Given the description of an element on the screen output the (x, y) to click on. 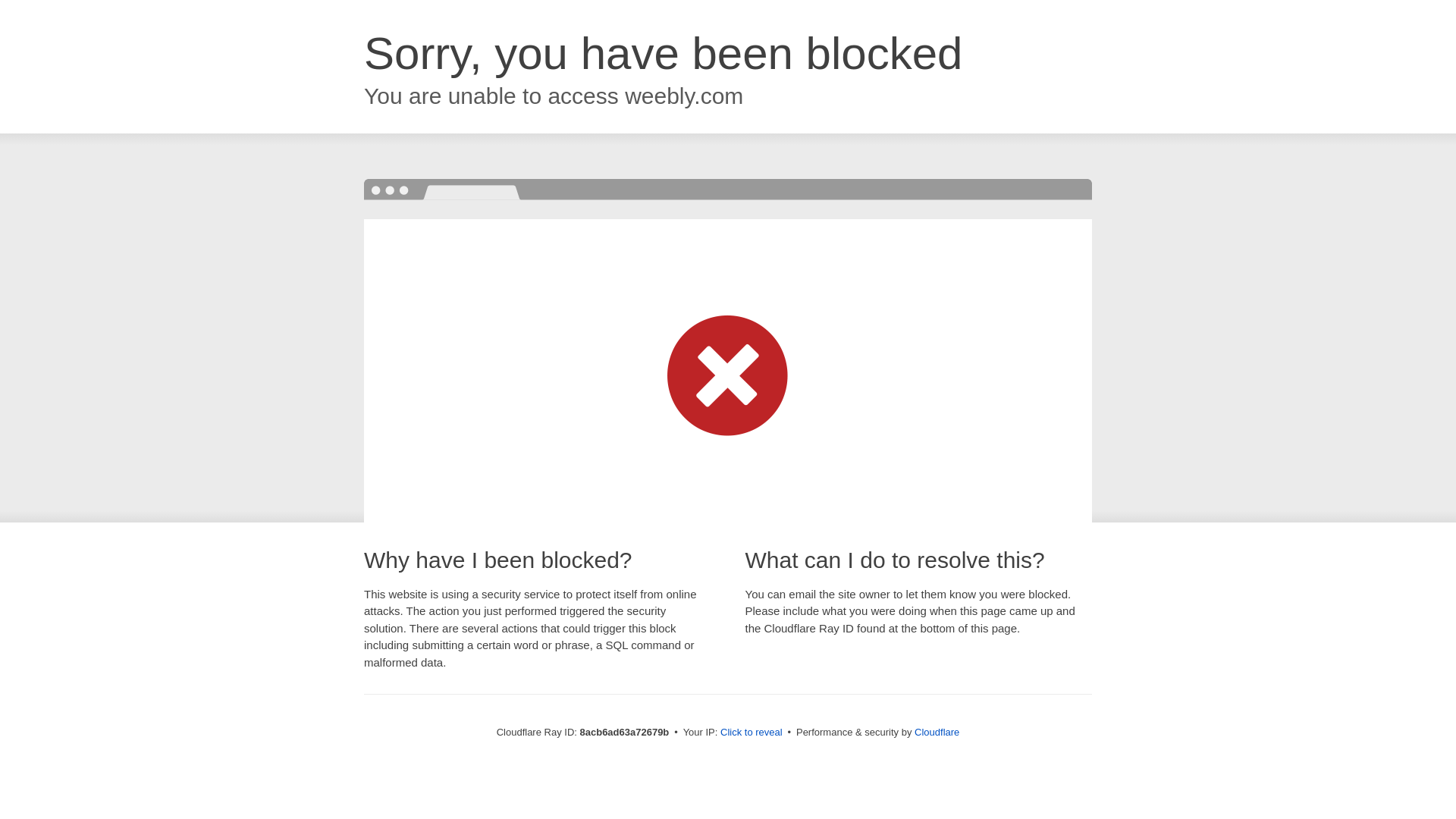
Cloudflare (936, 731)
Click to reveal (751, 732)
